Given the description of an element on the screen output the (x, y) to click on. 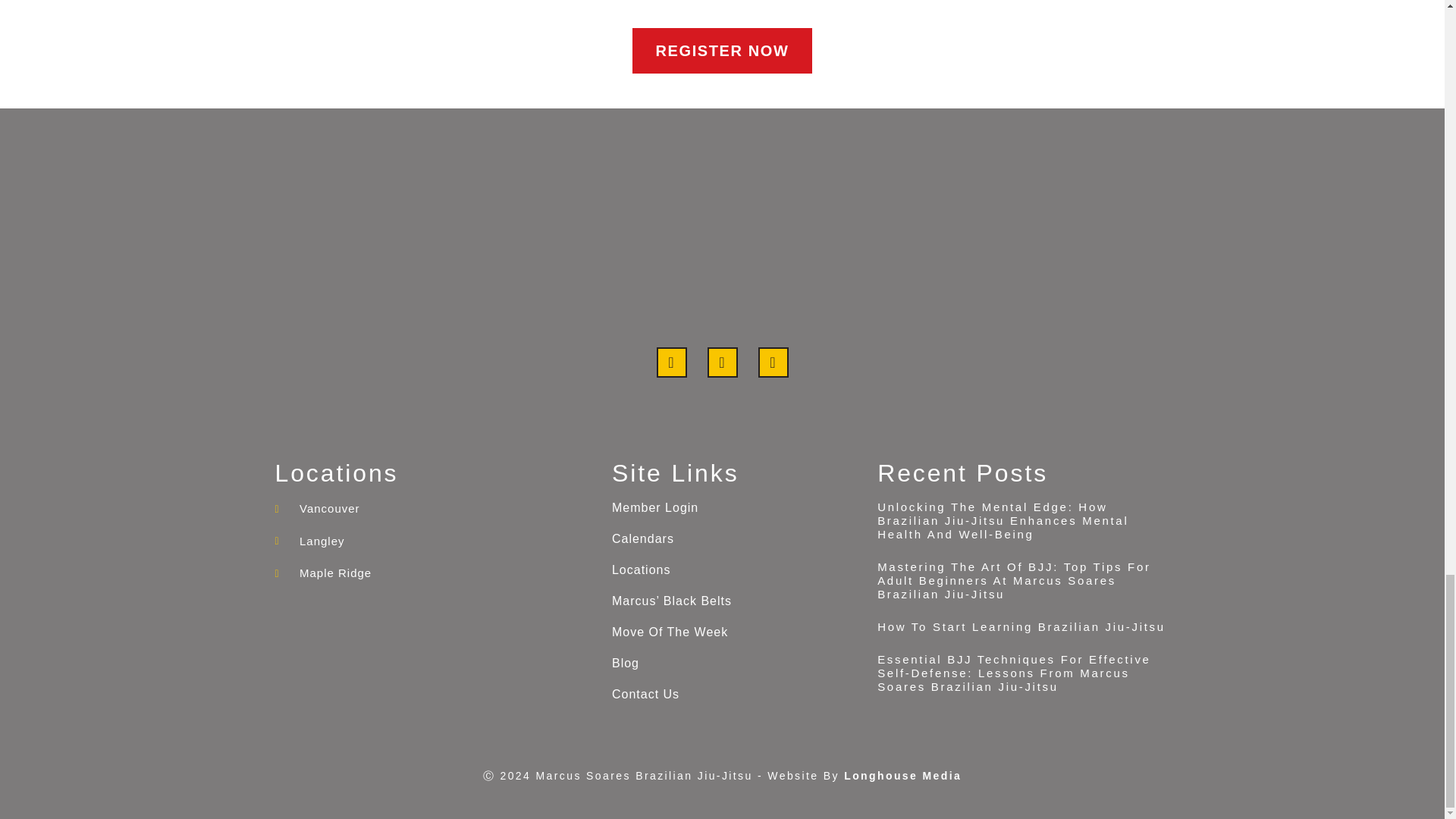
Blog (736, 663)
REGISTER NOW (721, 50)
Longhouse Media (902, 775)
Contact Us (736, 694)
Calendars (736, 539)
Member Login (736, 507)
How To Start Learning Brazilian Jiu-Jitsu (1021, 626)
604-725-9797 (879, 2)
Move Of The Week (736, 631)
Locations (736, 570)
